Given the description of an element on the screen output the (x, y) to click on. 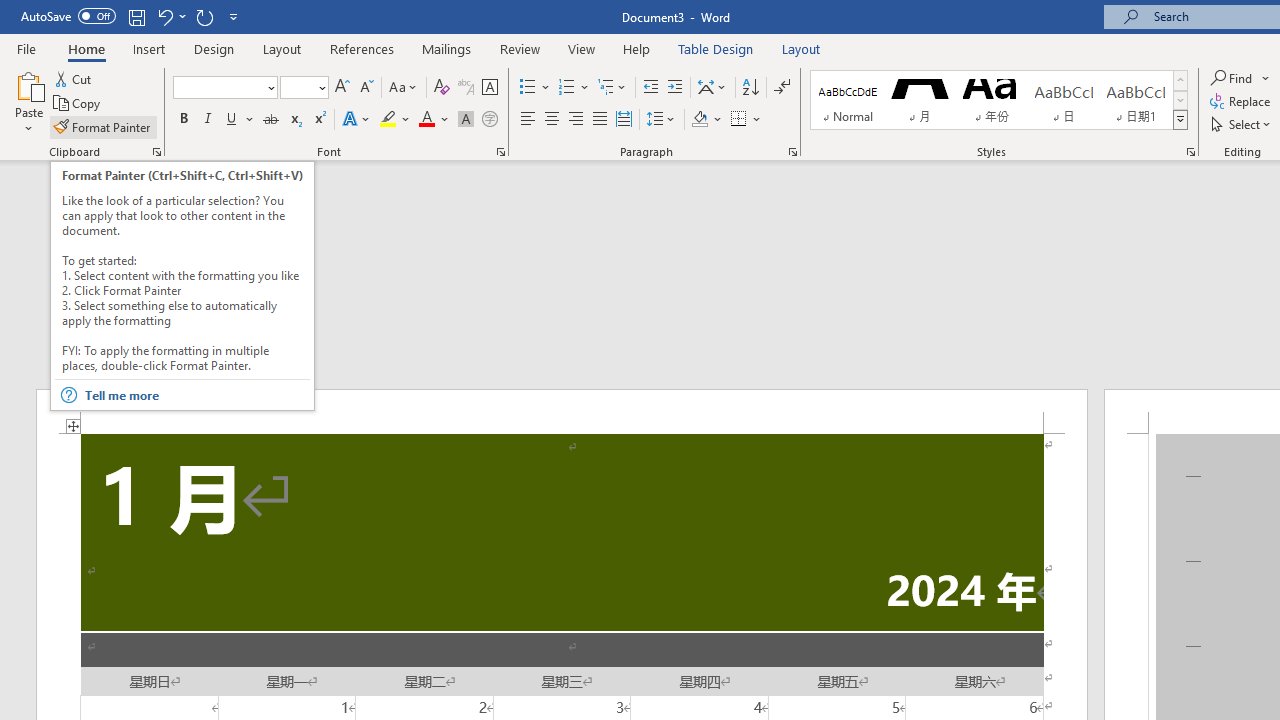
Undo Apply Quick Style (170, 15)
Phonetic Guide... (465, 87)
Increase Indent (675, 87)
Font Color RGB(255, 0, 0) (426, 119)
Shading RGB(0, 0, 0) (699, 119)
Tell me more (196, 395)
